Given the description of an element on the screen output the (x, y) to click on. 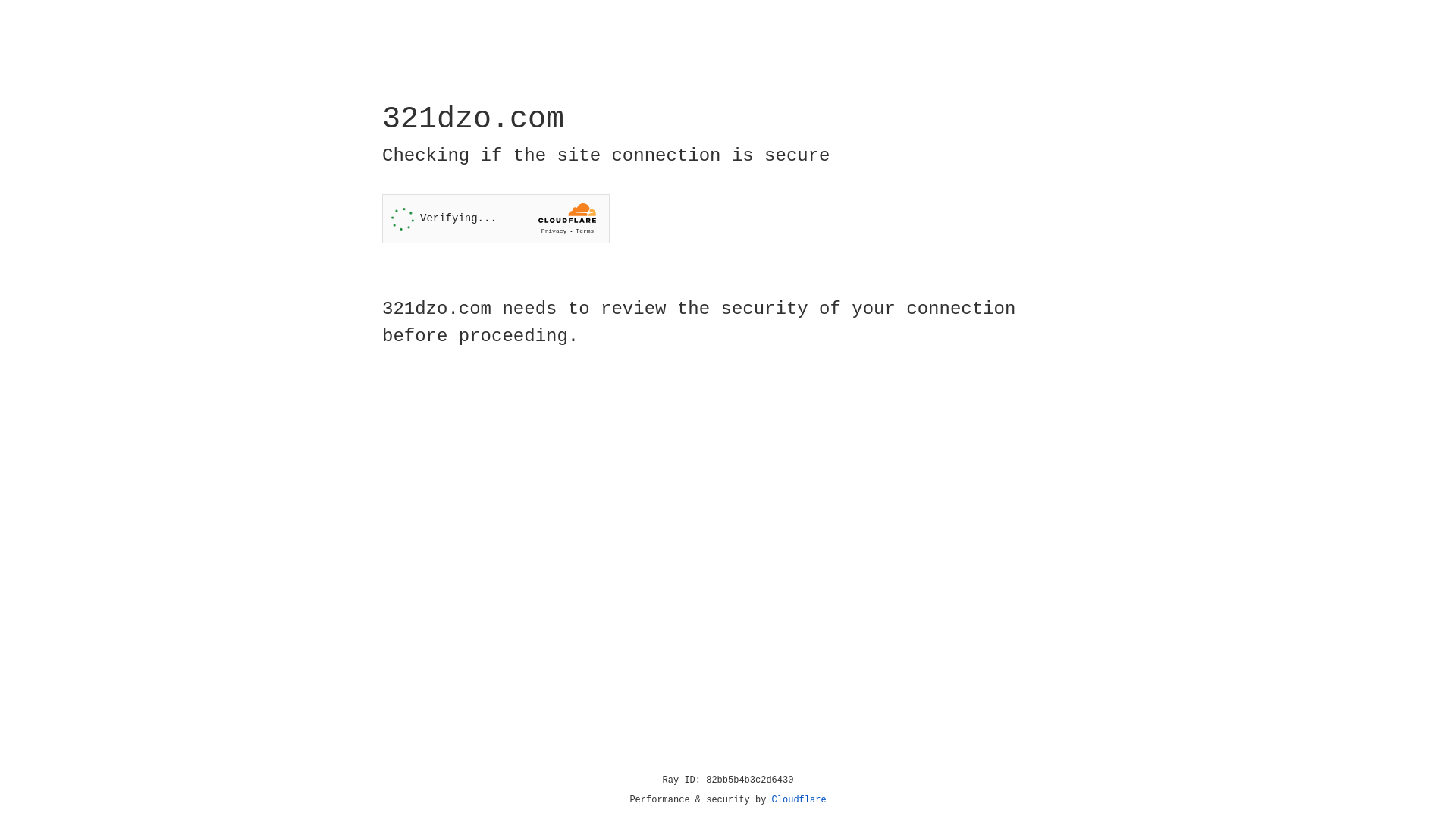
Widget containing a Cloudflare security challenge Element type: hover (495, 218)
Cloudflare Element type: text (798, 799)
